Given the description of an element on the screen output the (x, y) to click on. 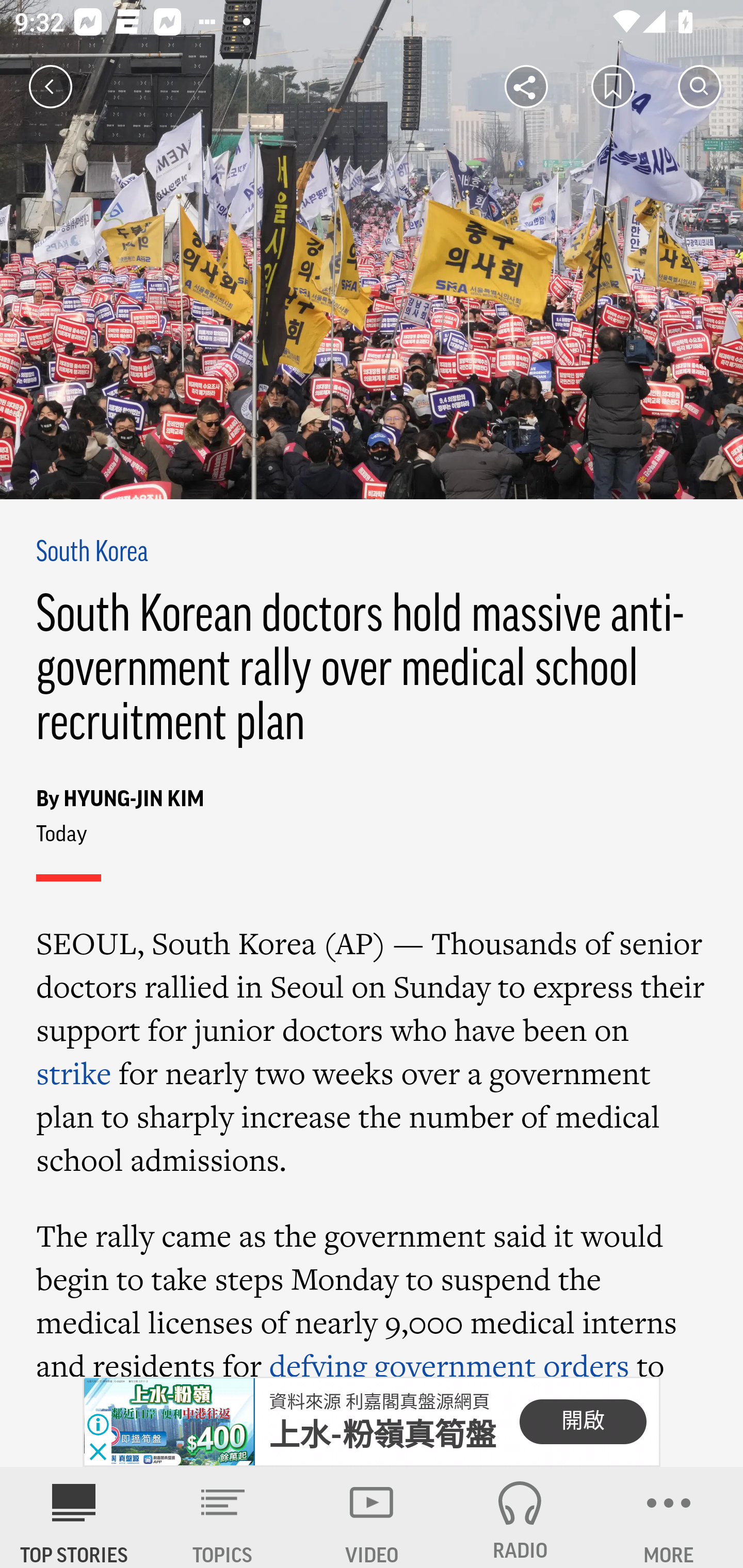
South Korea (92, 552)
strike (74, 1073)
defying government orders (448, 1359)
開啟 (582, 1421)
上水-粉嶺真筍盤 (382, 1434)
AP News TOP STORIES (74, 1517)
TOPICS (222, 1517)
VIDEO (371, 1517)
RADIO (519, 1517)
MORE (668, 1517)
